Given the description of an element on the screen output the (x, y) to click on. 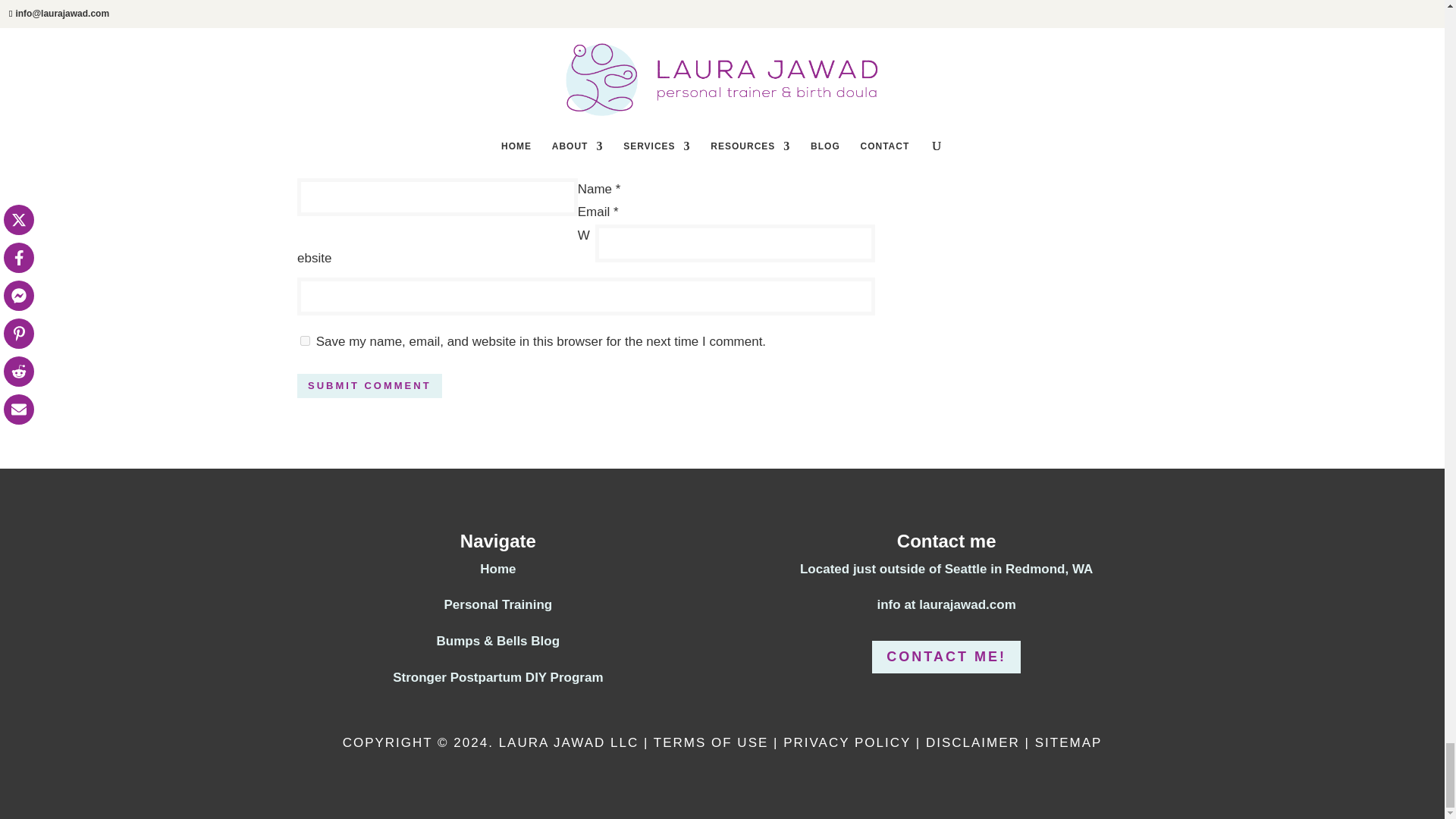
yes (304, 340)
Submit Comment (369, 385)
